Given the description of an element on the screen output the (x, y) to click on. 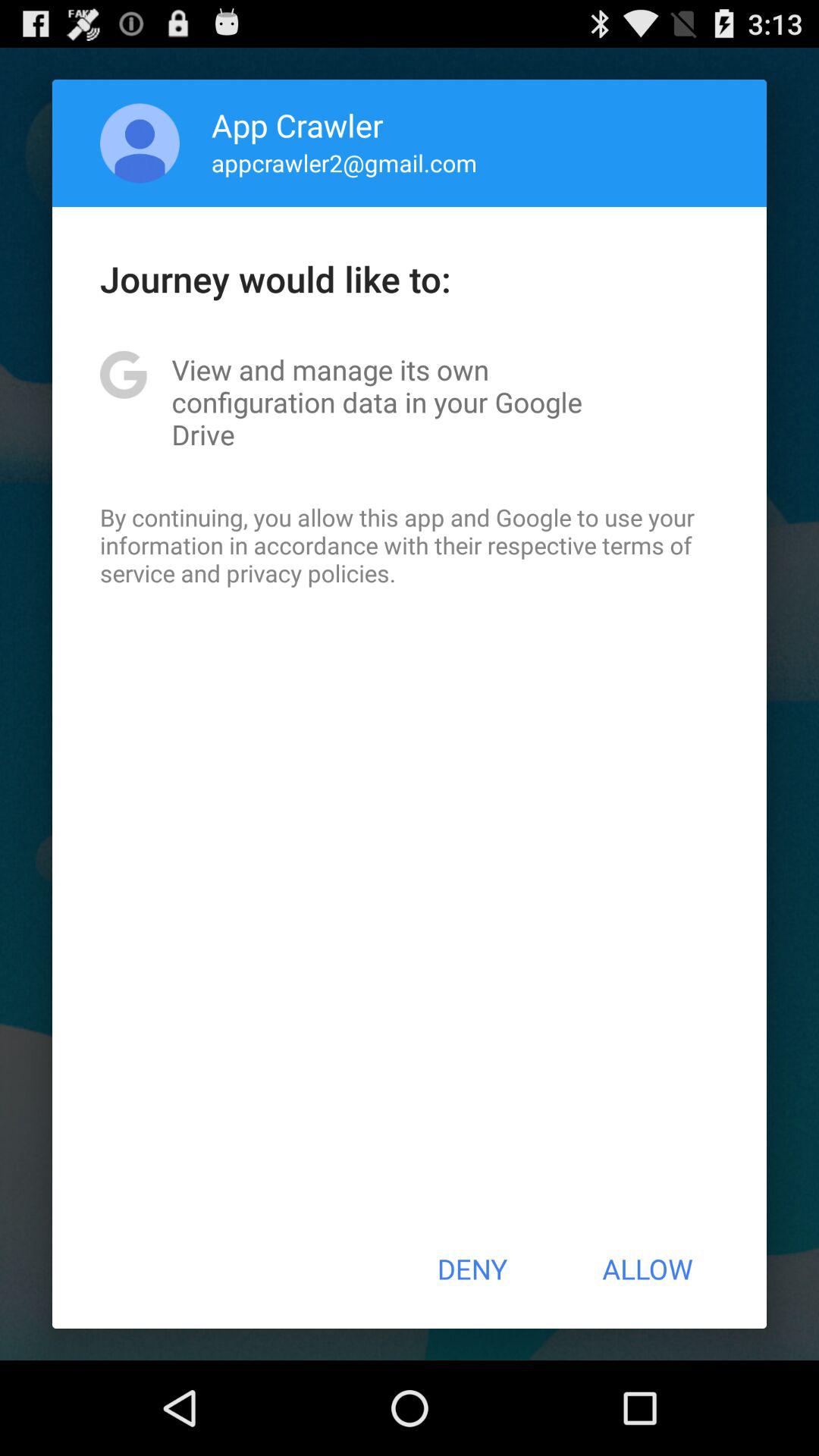
scroll until the view and manage icon (409, 401)
